Given the description of an element on the screen output the (x, y) to click on. 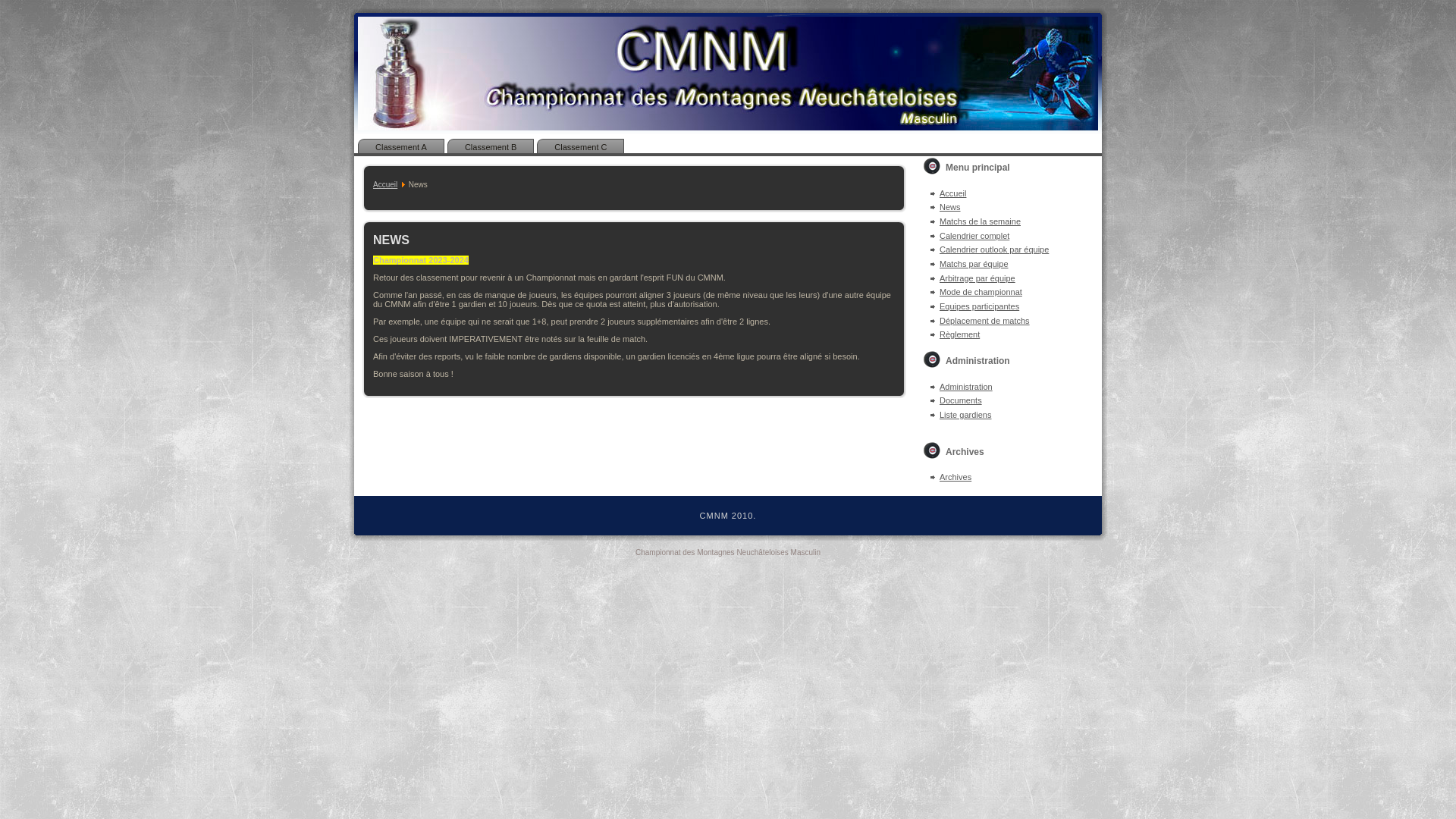
Classement B Element type: text (490, 147)
Calendrier complet Element type: text (974, 235)
Equipes participantes Element type: text (979, 305)
Administration Element type: text (965, 386)
News Element type: text (949, 206)
Mode de championnat Element type: text (980, 291)
Classement C Element type: text (580, 147)
Classement A Element type: text (400, 147)
Documents Element type: text (960, 399)
Liste gardiens Element type: text (965, 414)
Matchs de la semaine Element type: text (979, 220)
Archives Element type: text (955, 476)
Accueil Element type: text (385, 184)
Accueil Element type: text (952, 192)
